Given the description of an element on the screen output the (x, y) to click on. 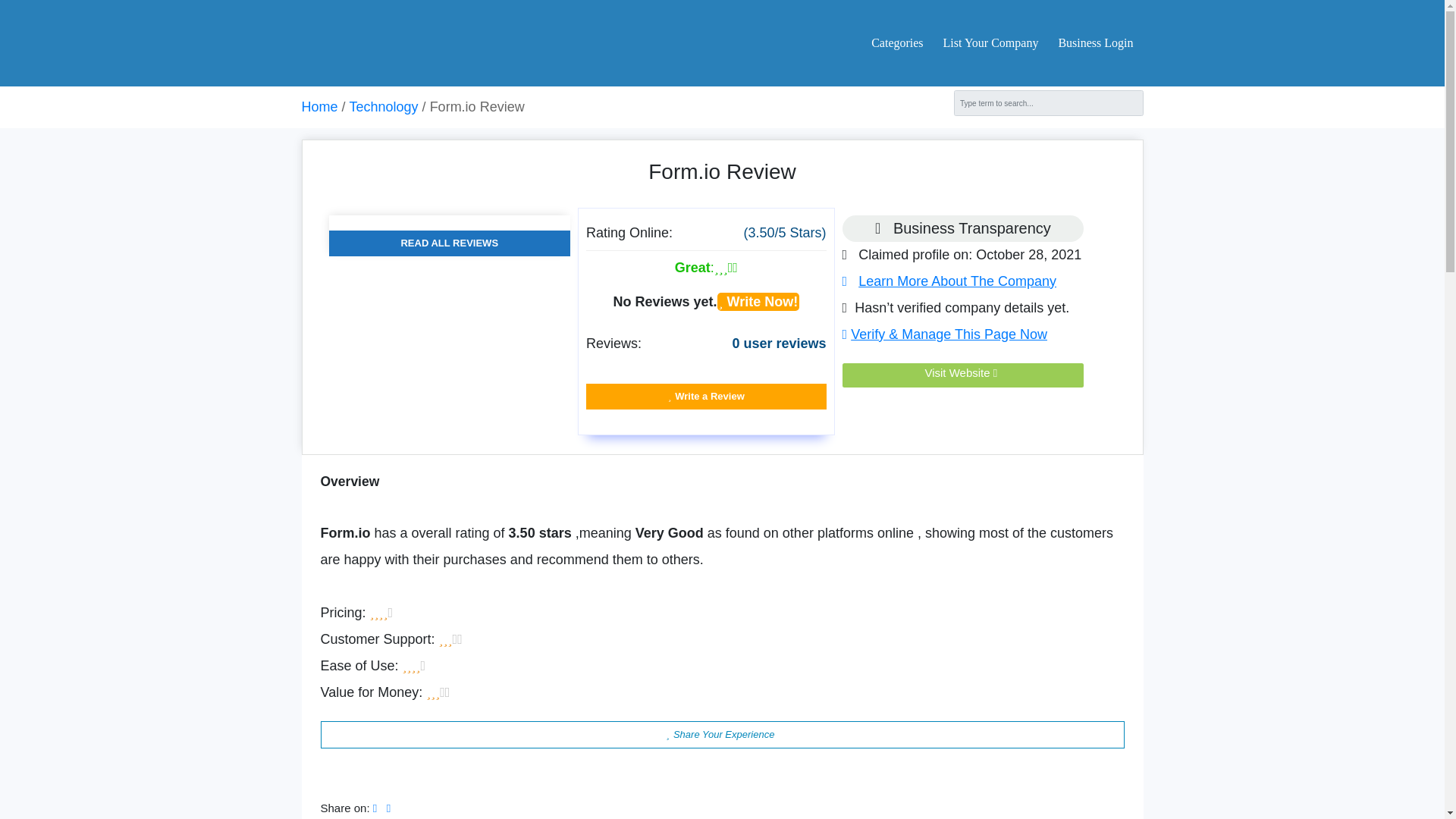
List Your Company (991, 42)
Home (319, 106)
Categories (896, 42)
Technology (384, 106)
Share Your Experience (722, 734)
Write Now! (758, 301)
Business Login (1090, 42)
Reviews: (614, 343)
Business Login (1090, 42)
Visit Website (962, 372)
Write a Review (706, 396)
Categories (896, 42)
List Your Company (991, 42)
READ ALL REVIEWS (449, 243)
  Learn More About The Company (950, 281)
